Given the description of an element on the screen output the (x, y) to click on. 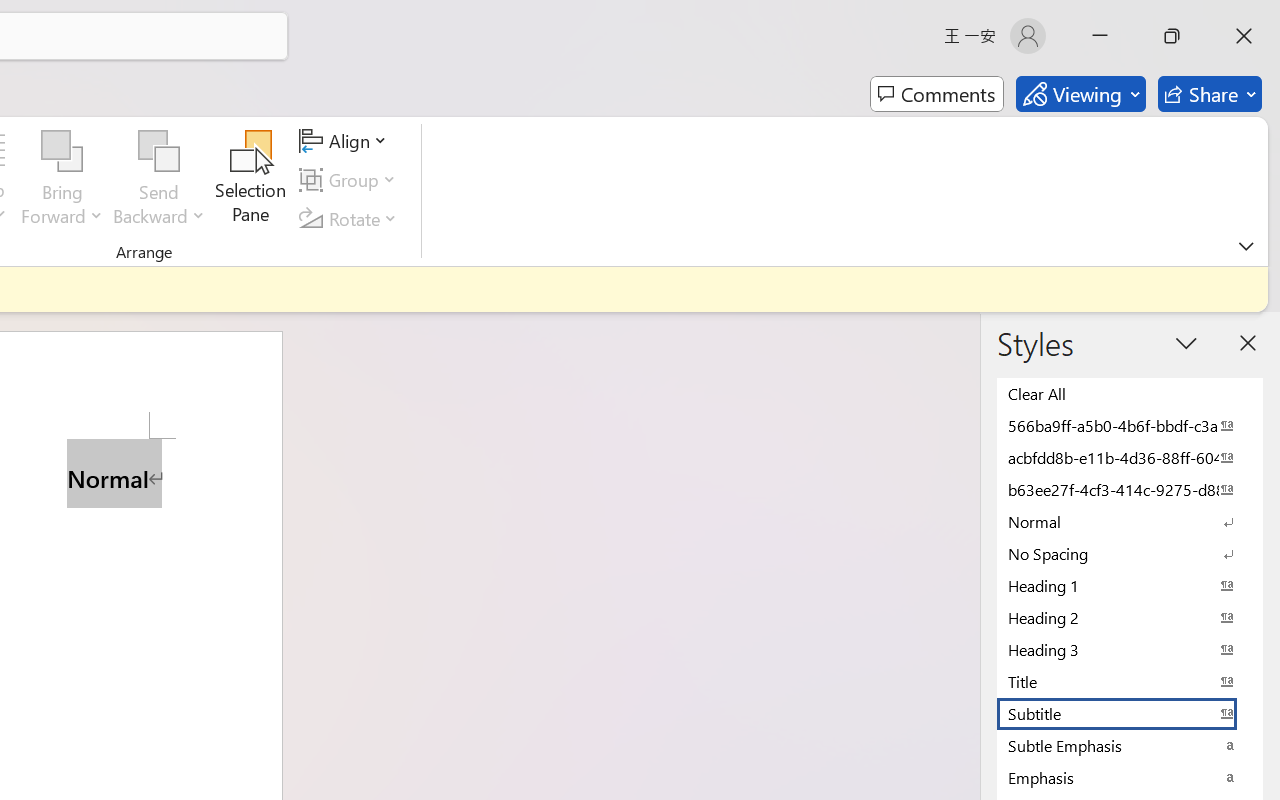
Title (1130, 681)
Group (351, 179)
Subtle Emphasis (1130, 745)
Clear All (1130, 393)
Send Backward (159, 151)
Heading 1 (1130, 585)
Mode (1080, 94)
Send Backward (159, 179)
Task Pane Options (1186, 343)
Selection Pane... (251, 179)
b63ee27f-4cf3-414c-9275-d88e3f90795e (1130, 489)
